Given the description of an element on the screen output the (x, y) to click on. 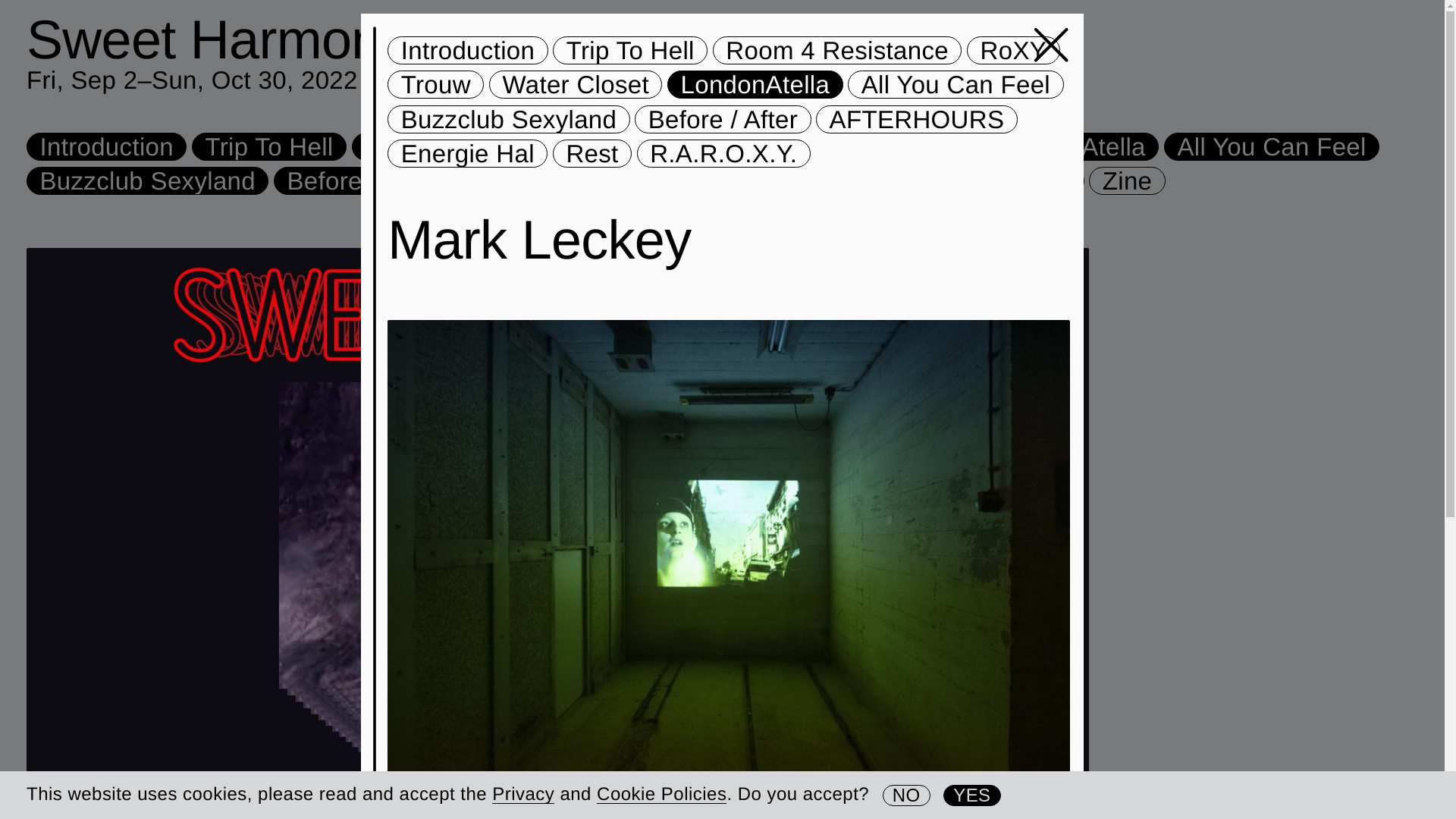
Room 4 Resistance (476, 146)
Introduction (106, 146)
LondonAtella (1071, 146)
Water Closet (575, 84)
Trouw (751, 146)
R.A.R.O.X.Y. (997, 180)
RoXY (1012, 50)
All You Can Feel (954, 84)
Energie Hal (741, 180)
Trouw (435, 84)
Water Closet (891, 146)
NO (906, 794)
Rest (592, 153)
Zine (1127, 180)
RoXY (651, 146)
